Given the description of an element on the screen output the (x, y) to click on. 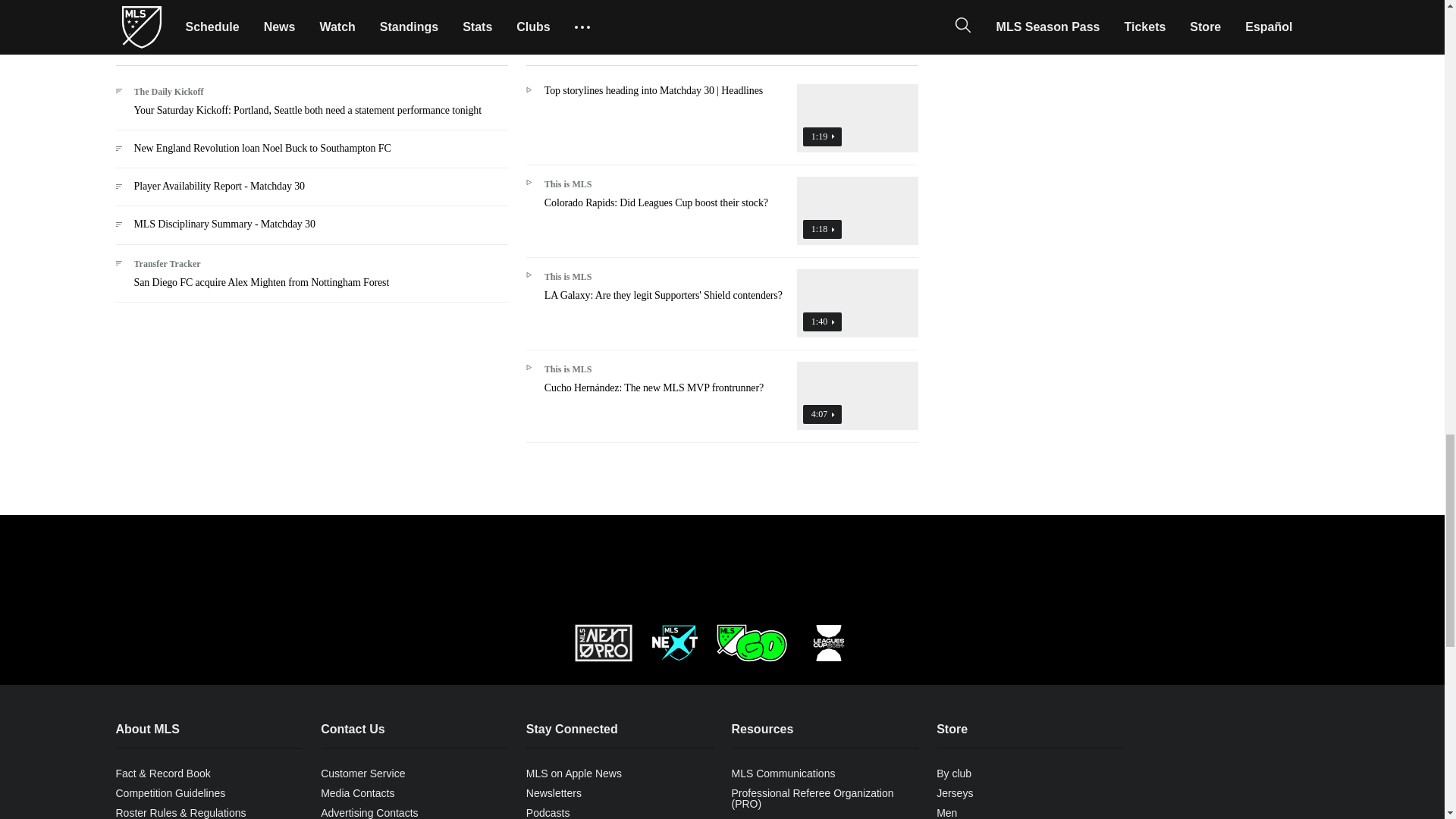
Player Availability Report - Matchday 30 (310, 192)
LA Galaxy: Are they legit Supporters' Shield contenders? (721, 309)
MLS Disciplinary Summary - Matchday 30 (310, 230)
New England Revolution loan Noel Buck to Southampton FC (310, 154)
San Diego FC acquire Alex Mighten from Nottingham Forest (310, 279)
Colorado Rapids: Did Leagues Cup boost their stock? (721, 216)
